Given the description of an element on the screen output the (x, y) to click on. 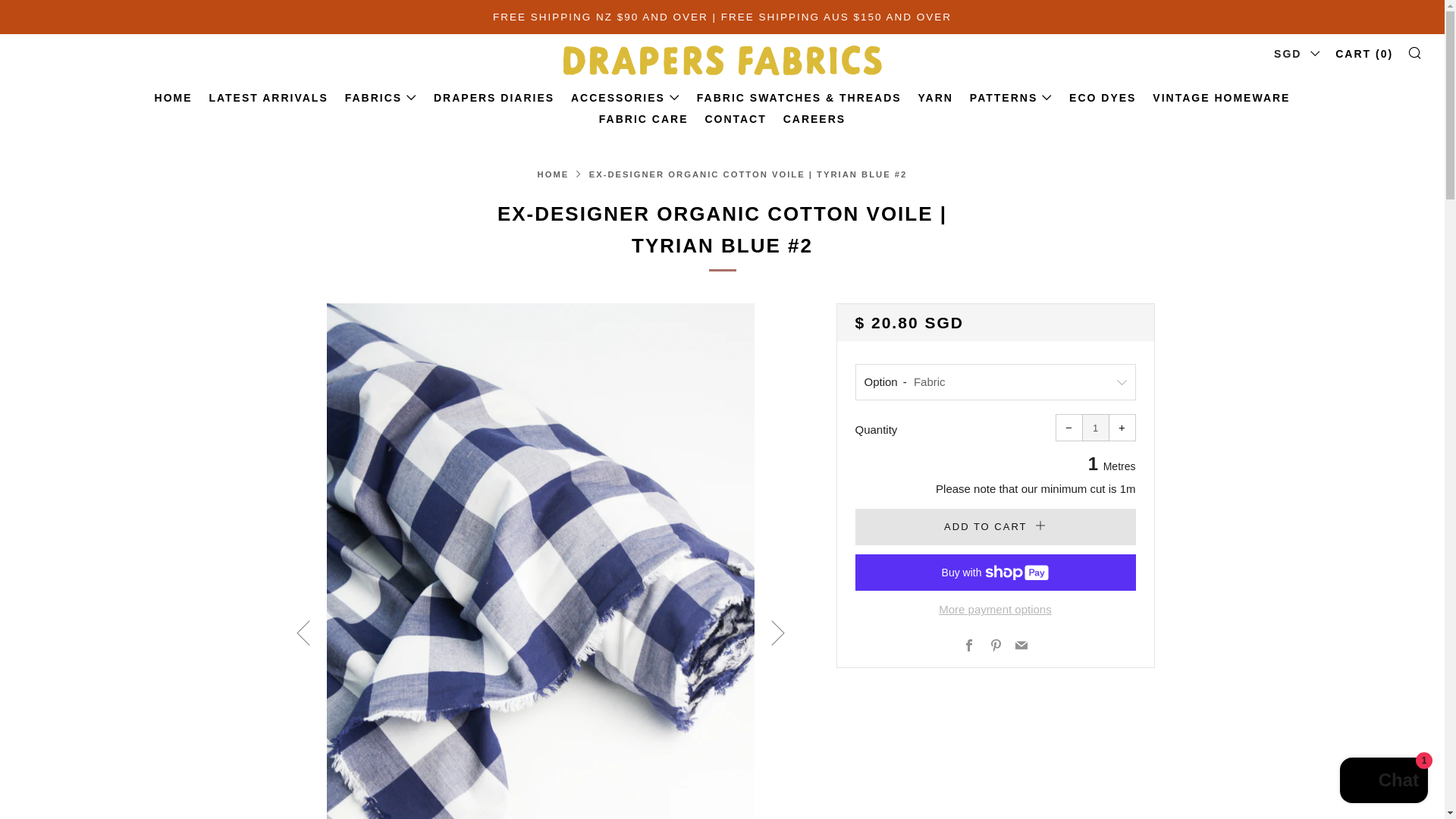
Home (553, 174)
1 (1094, 427)
